Given the description of an element on the screen output the (x, y) to click on. 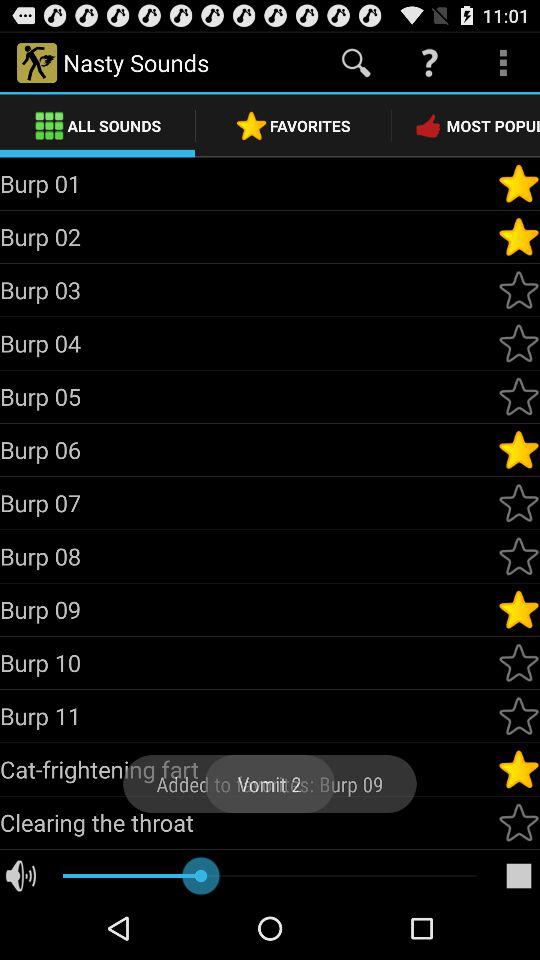
favorite sound (519, 396)
